Given the description of an element on the screen output the (x, y) to click on. 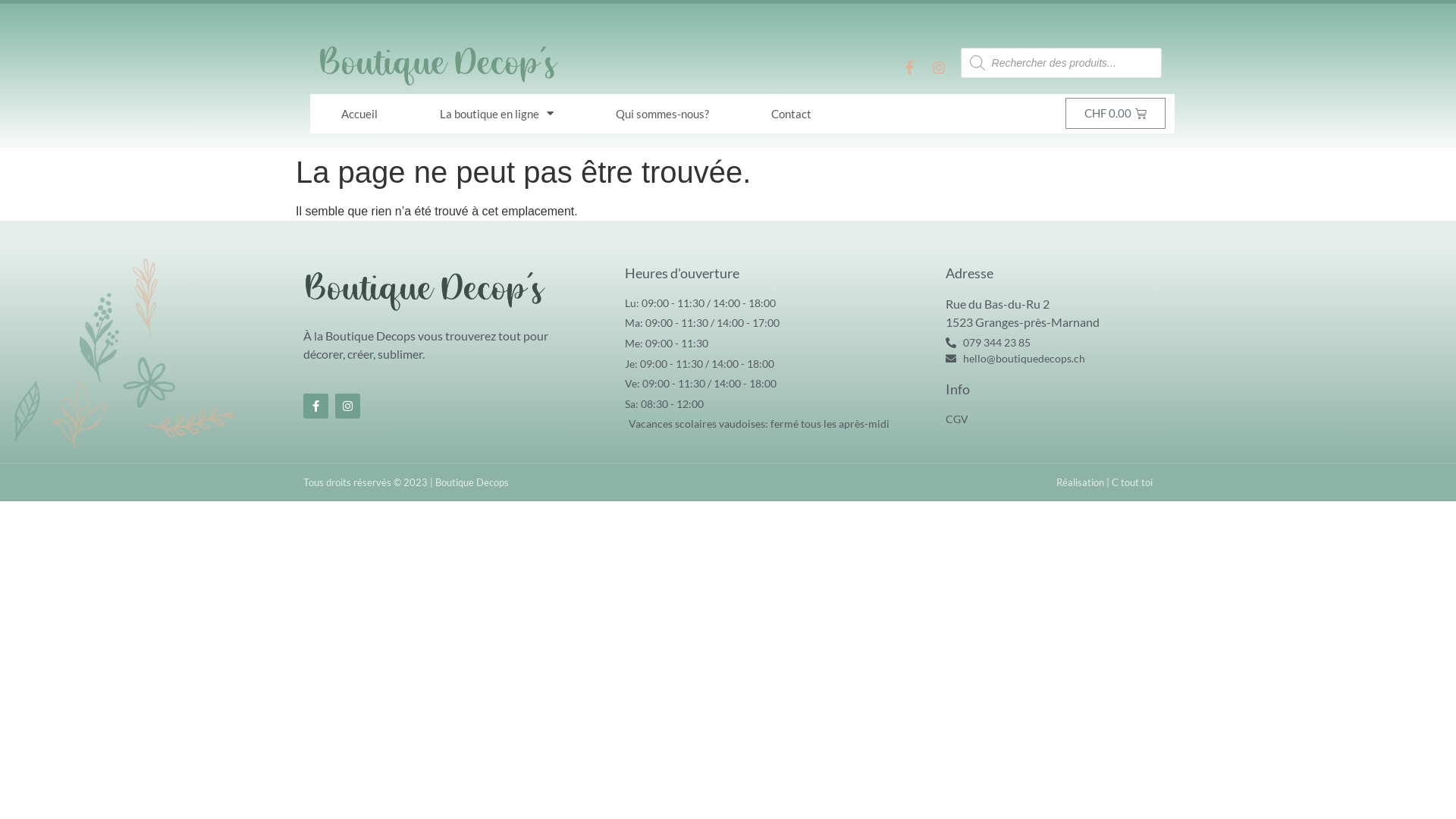
CHF 0.00 Element type: text (1115, 112)
Qui sommes-nous? Element type: text (662, 113)
Accueil Element type: text (359, 113)
Contact Element type: text (791, 113)
La boutique en ligne Element type: text (496, 113)
079 344 23 85 Element type: text (1045, 342)
CGV Element type: text (1045, 419)
